Given the description of an element on the screen output the (x, y) to click on. 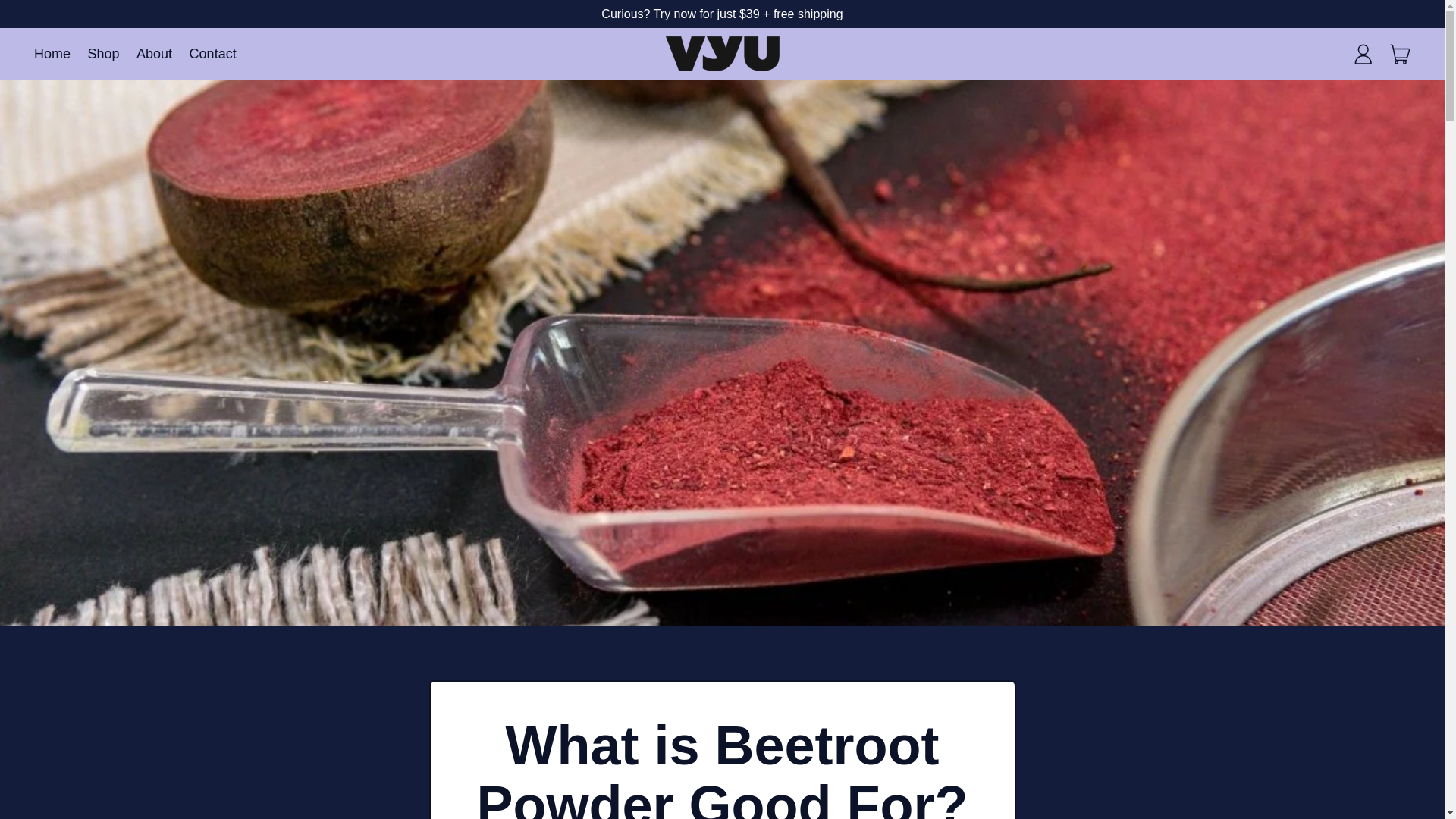
Contact (212, 53)
Home (53, 53)
Shop (103, 53)
About (1400, 53)
Log in (154, 53)
